Given the description of an element on the screen output the (x, y) to click on. 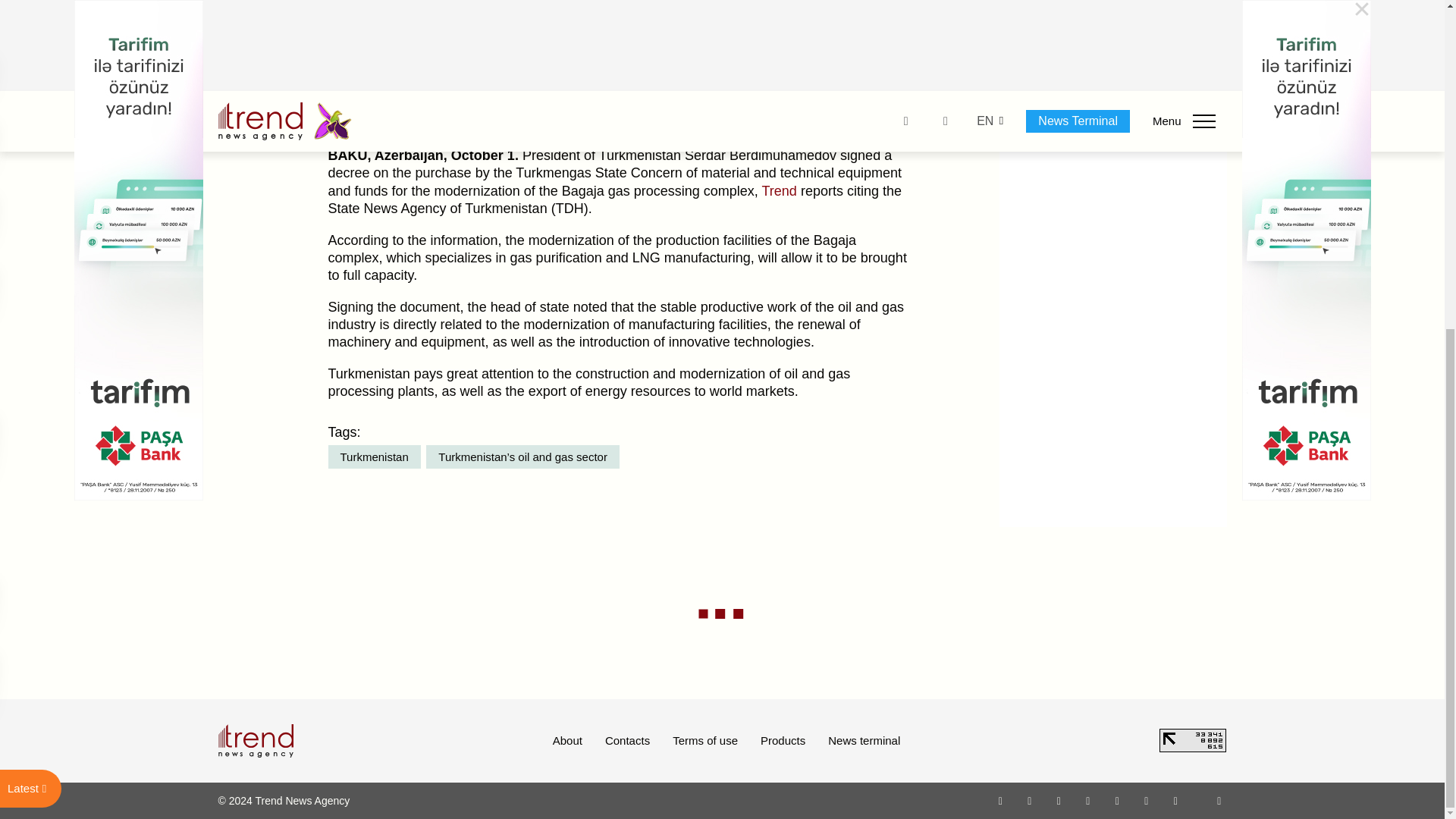
Android App (1176, 800)
Twitter (1059, 800)
Telegram (1117, 800)
3rd party ad content (1112, 42)
LinkedIn (1146, 800)
Youtube (1088, 800)
Facebook (1029, 800)
RSS Feed (1219, 800)
Whatsapp (1000, 800)
